Given the description of an element on the screen output the (x, y) to click on. 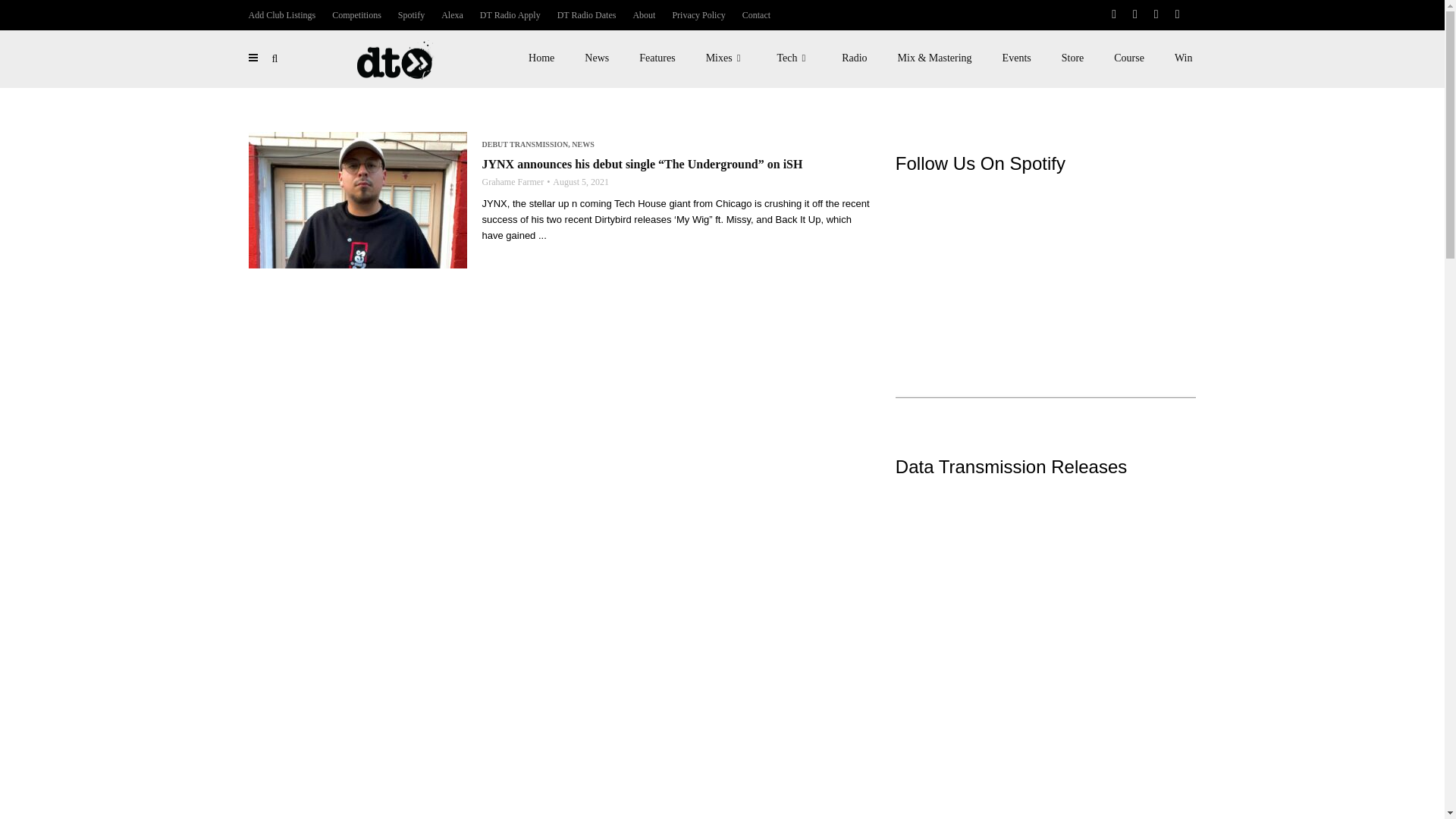
Mixes (725, 57)
News (596, 57)
Tech (794, 57)
Store (1072, 57)
Spotify Embed: New Music Friday (1045, 259)
Home (541, 57)
Events (1016, 57)
Radio (854, 57)
Features (657, 57)
Course (1128, 57)
